Given the description of an element on the screen output the (x, y) to click on. 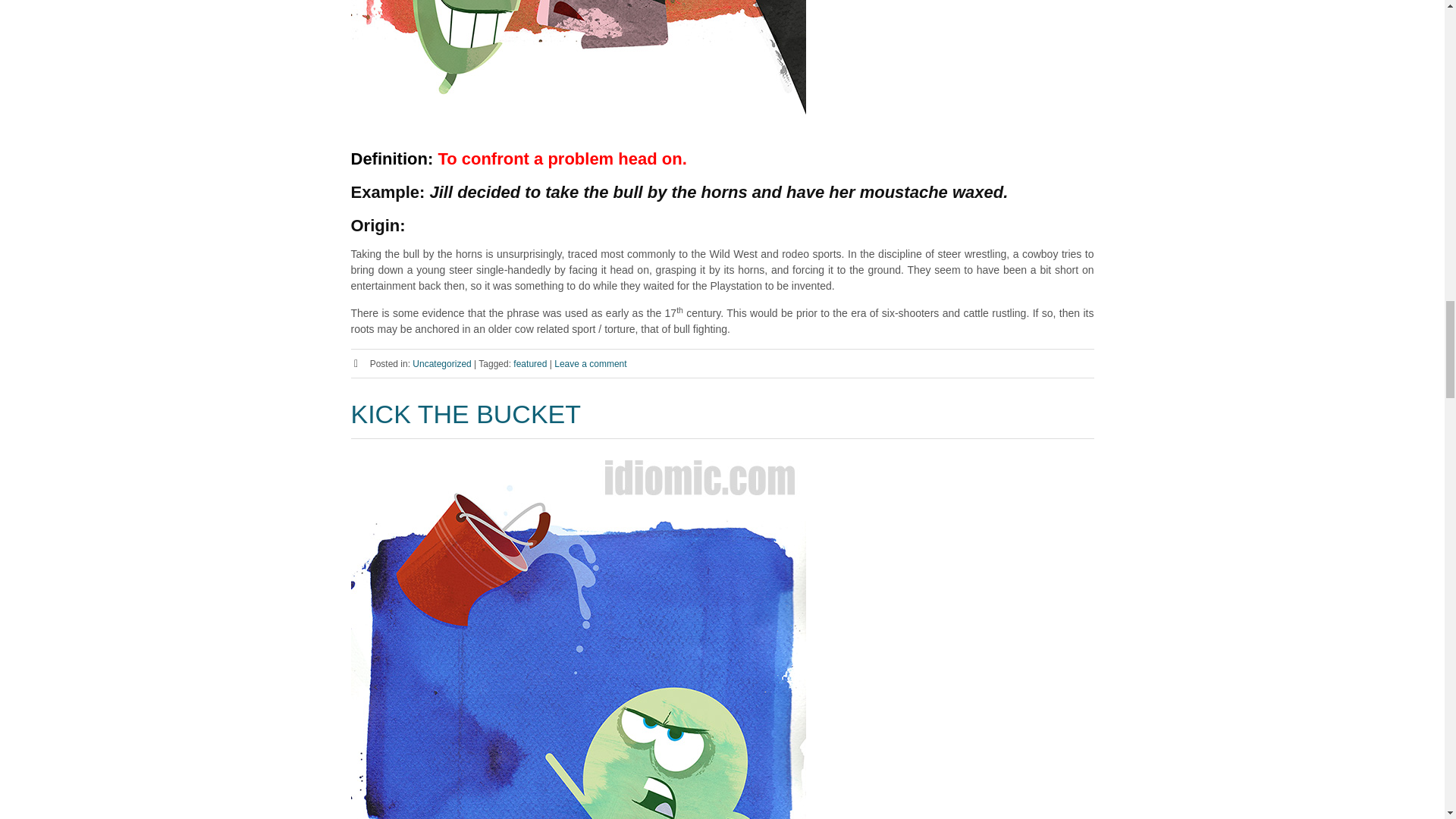
KICK THE BUCKET (465, 413)
Uncategorized (441, 363)
Leave a comment (590, 363)
featured (530, 363)
